Given the description of an element on the screen output the (x, y) to click on. 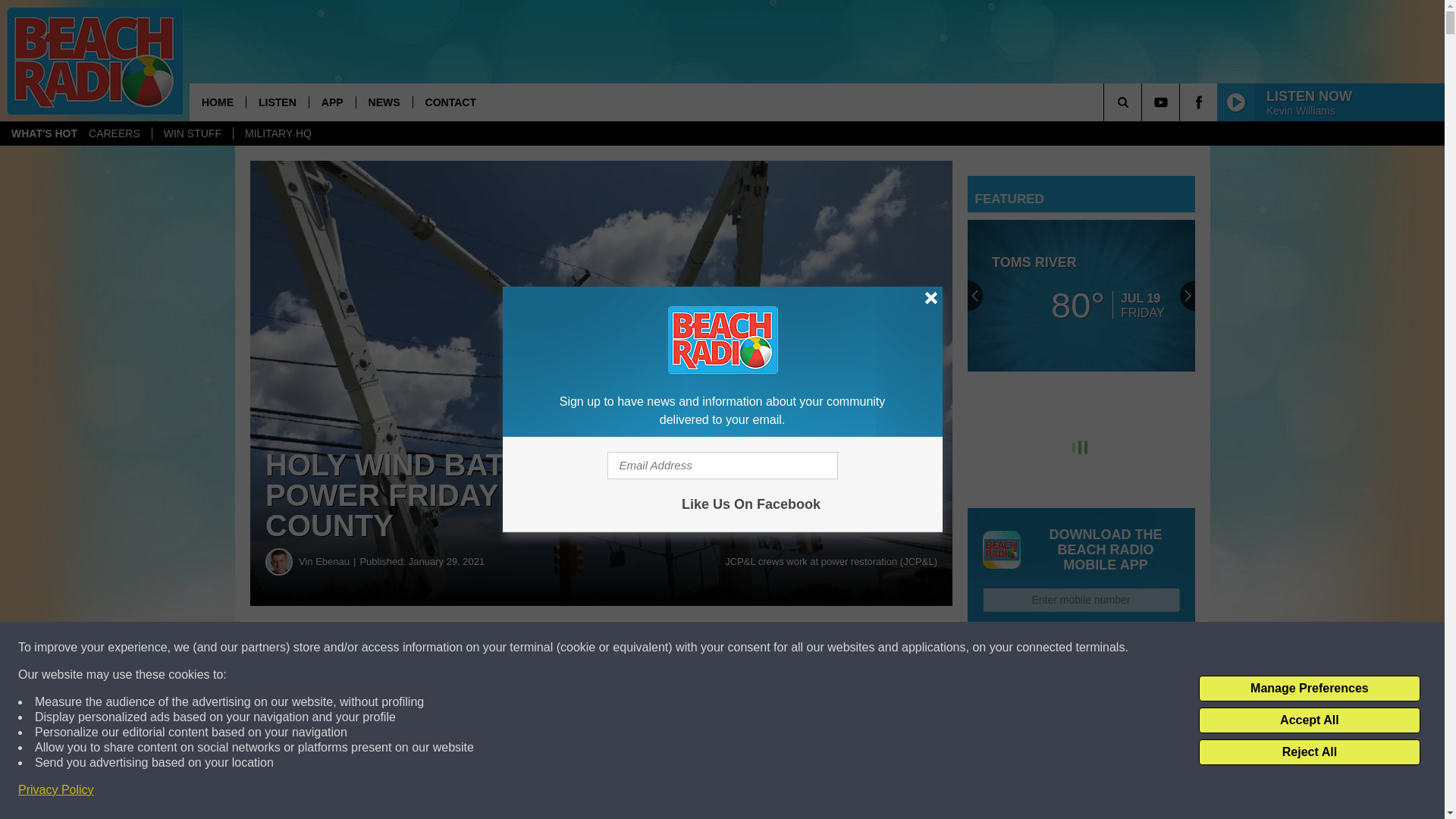
SEARCH (1144, 102)
Accept All (1309, 720)
HOME (217, 102)
WIN STUFF (191, 133)
CAREERS (114, 133)
Share on Facebook (460, 647)
NEWS (383, 102)
Privacy Policy (55, 789)
Manage Preferences (1309, 688)
APP (331, 102)
Toms River Weather (1081, 295)
Share on Twitter (741, 647)
Email Address (722, 465)
Reject All (1309, 751)
SEARCH (1144, 102)
